Given the description of an element on the screen output the (x, y) to click on. 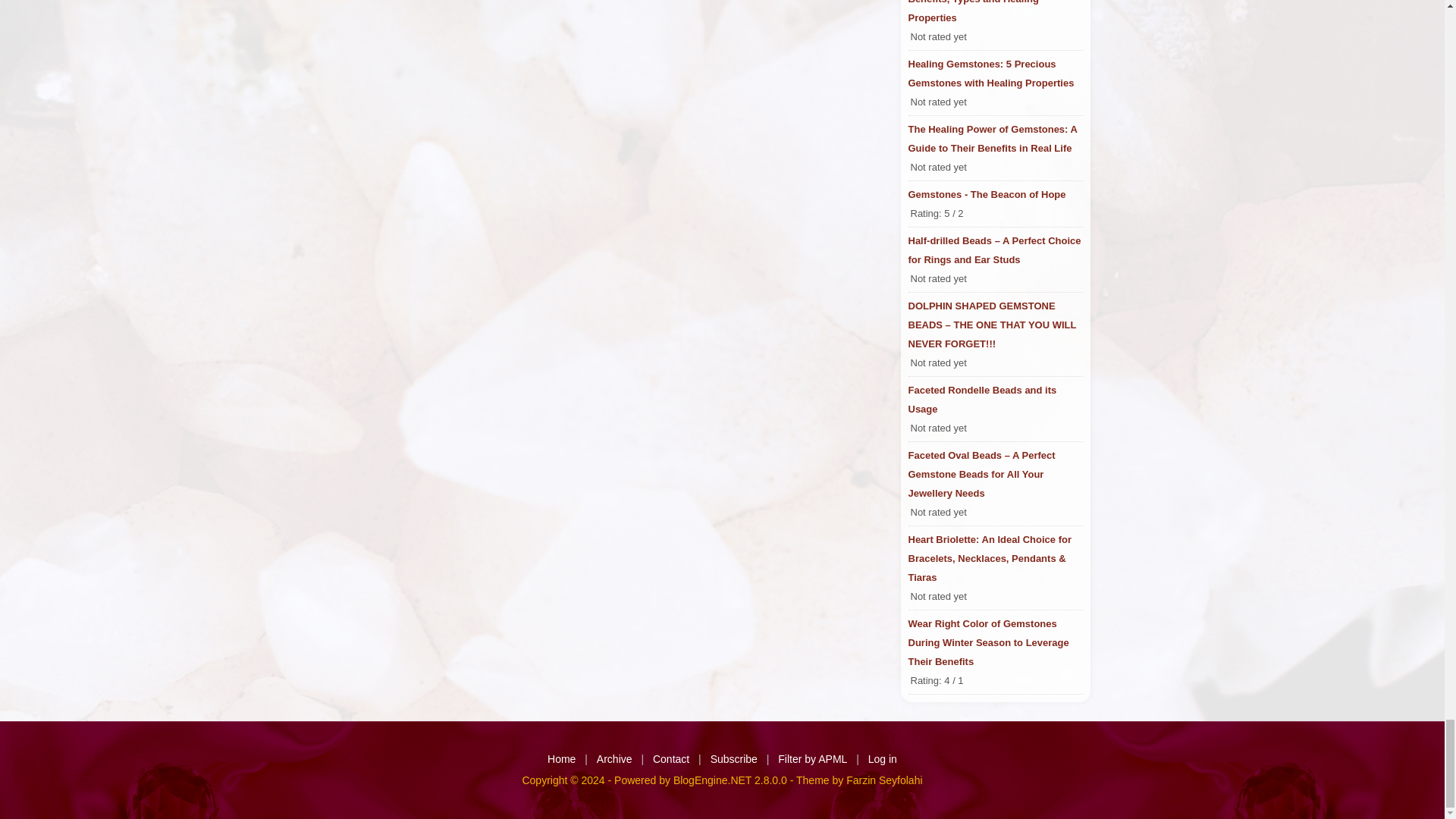
Home (561, 758)
Archive (613, 758)
Faceted Rondelle Beads and its Usage (995, 399)
Subscribe (733, 758)
Log in (881, 758)
Filter by APML (812, 758)
Contact (670, 758)
Gemstones - The Beacon of Hope (995, 194)
